Given the description of an element on the screen output the (x, y) to click on. 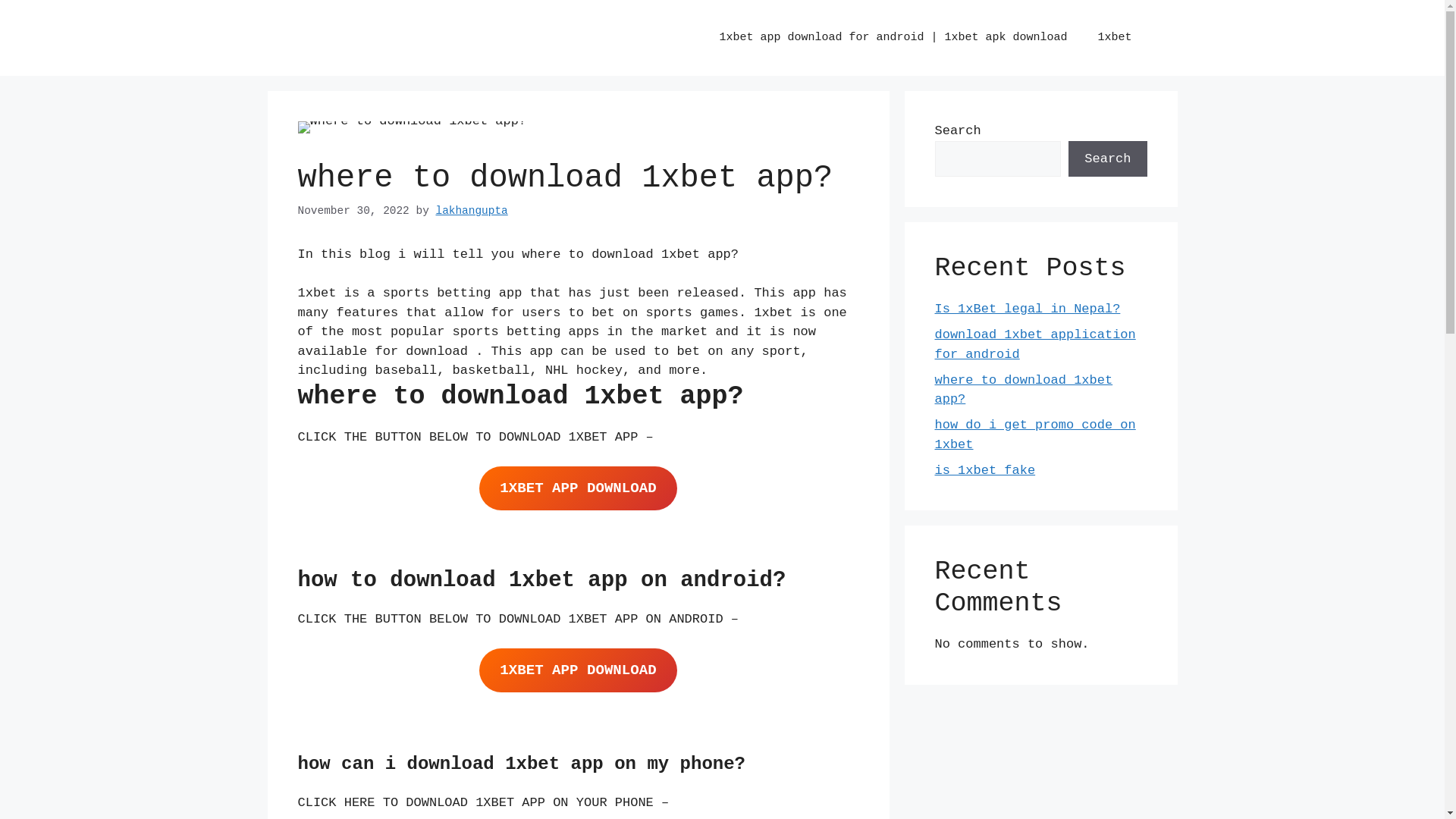
where to download 1xbet app? Element type: text (1023, 390)
is 1xbet fake Element type: text (984, 469)
Is 1xBet legal in Nepal? Element type: text (1027, 308)
Search Element type: text (1107, 159)
1xbet Element type: text (1114, 37)
1XBET APP DOWNLOAD Element type: text (578, 488)
how do i get promo code on 1xbet Element type: text (1034, 434)
1XBET APP DOWNLOAD Element type: text (578, 670)
lakhangupta Element type: text (471, 210)
download 1xbet application for android Element type: text (1034, 344)
1xbet app download for android | 1xbet apk download Element type: text (892, 37)
